Given the description of an element on the screen output the (x, y) to click on. 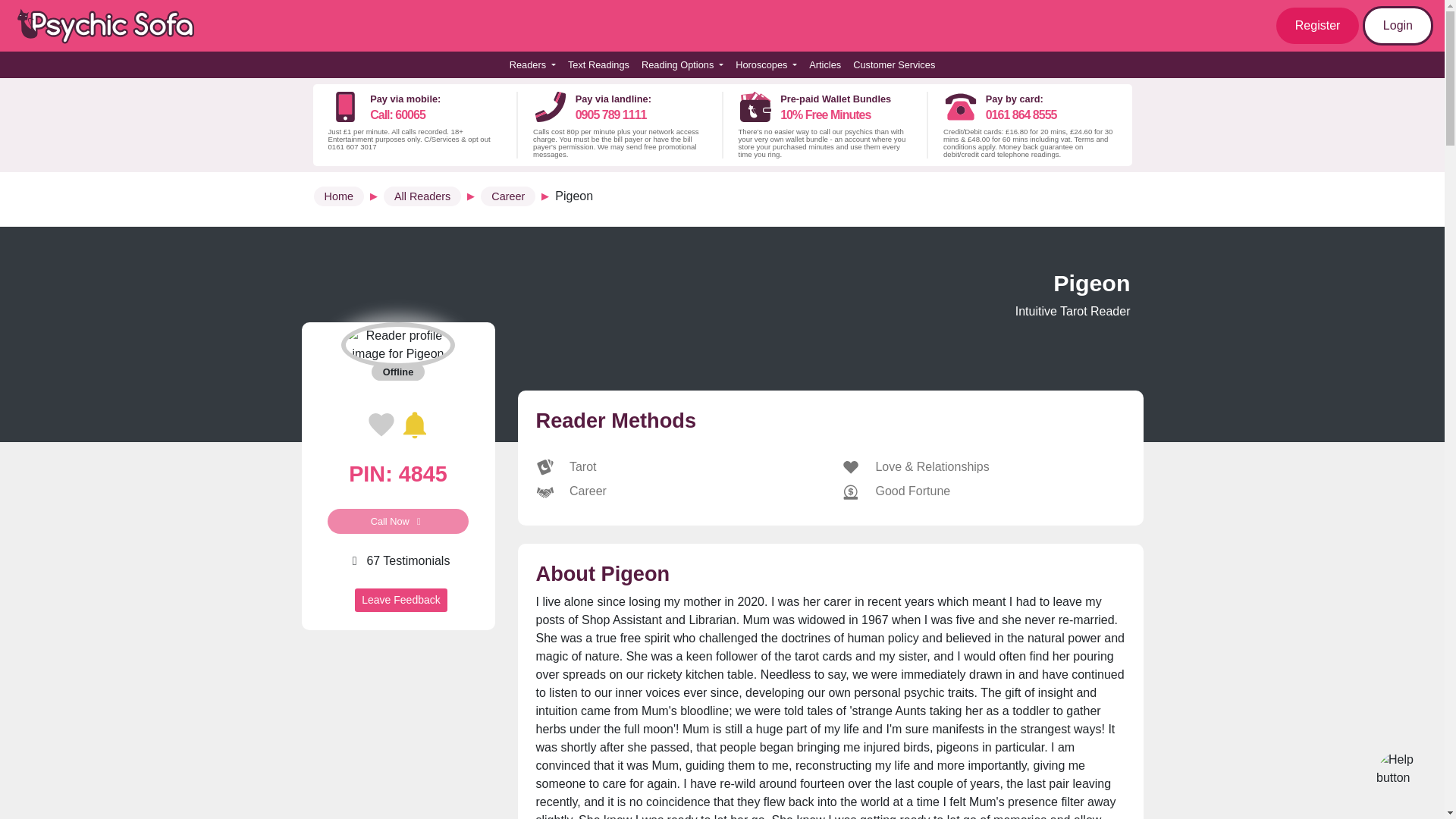
Register (1317, 25)
Horoscopes (766, 64)
Reading Options (398, 475)
Readers (681, 64)
Psychic Sofa Home Page Link (532, 64)
Text Readings (113, 25)
Login (598, 64)
